Given the description of an element on the screen output the (x, y) to click on. 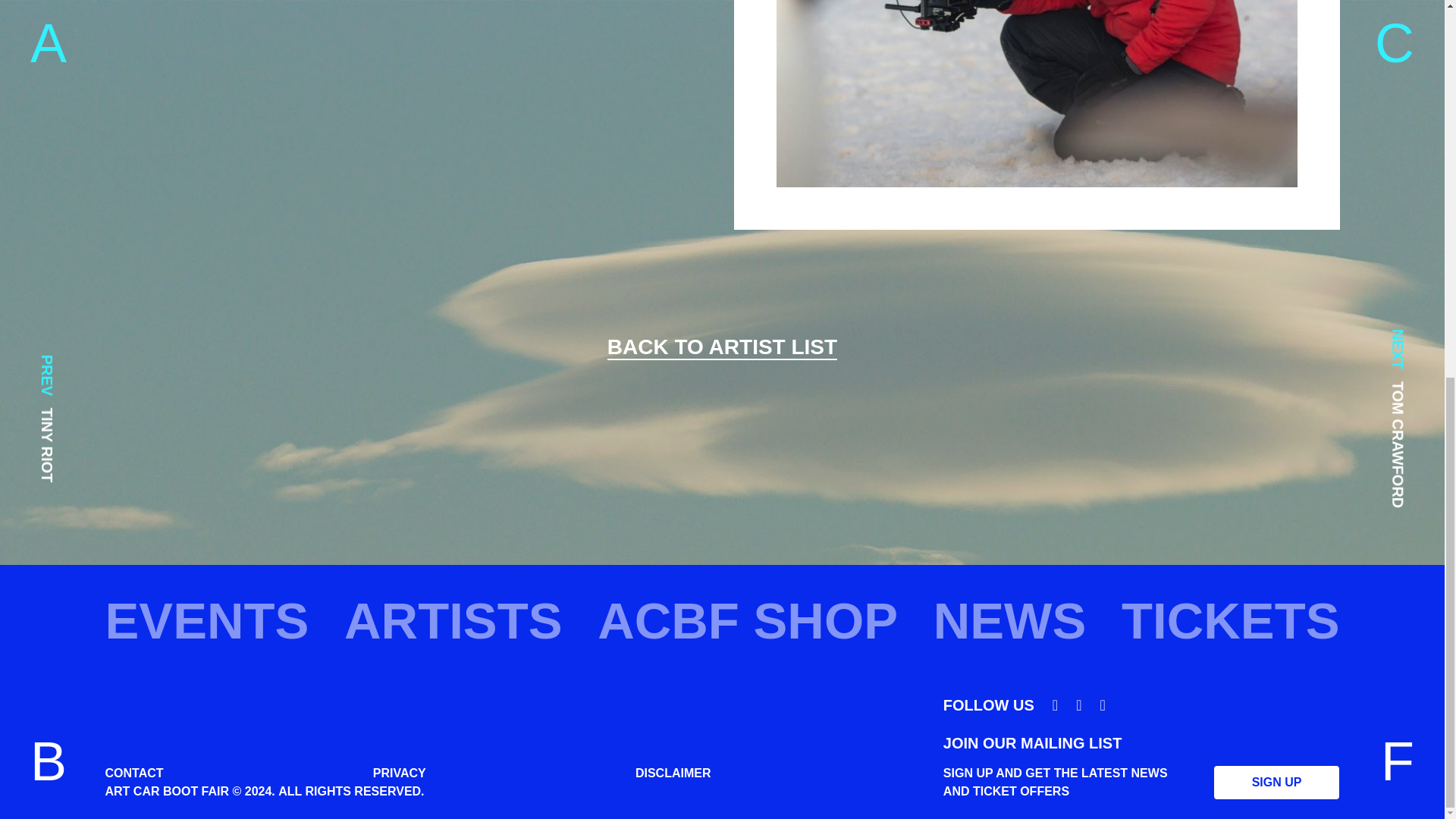
SIGN UP (1276, 782)
TICKETS (1230, 620)
BACK TO ARTIST LIST (722, 346)
ACBF SHOP (747, 620)
EVENTS (206, 620)
NEWS (1009, 620)
ARTISTS (452, 620)
